Given the description of an element on the screen output the (x, y) to click on. 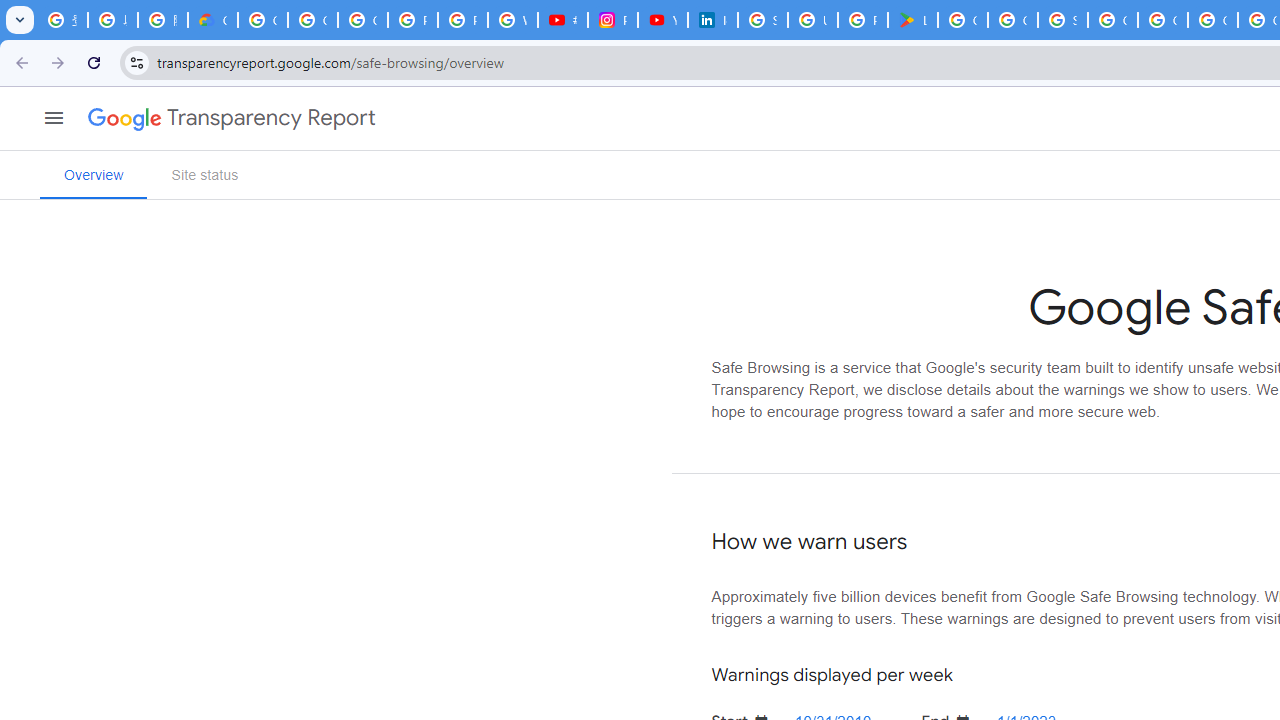
Site status (204, 174)
Open navigation menu (53, 116)
Google Cloud Platform (1162, 20)
Google Workspace - Specific Terms (1013, 20)
Open navigation menu (54, 117)
YouTube Culture & Trends - On The Rise: Handcam Videos (662, 20)
